Given the description of an element on the screen output the (x, y) to click on. 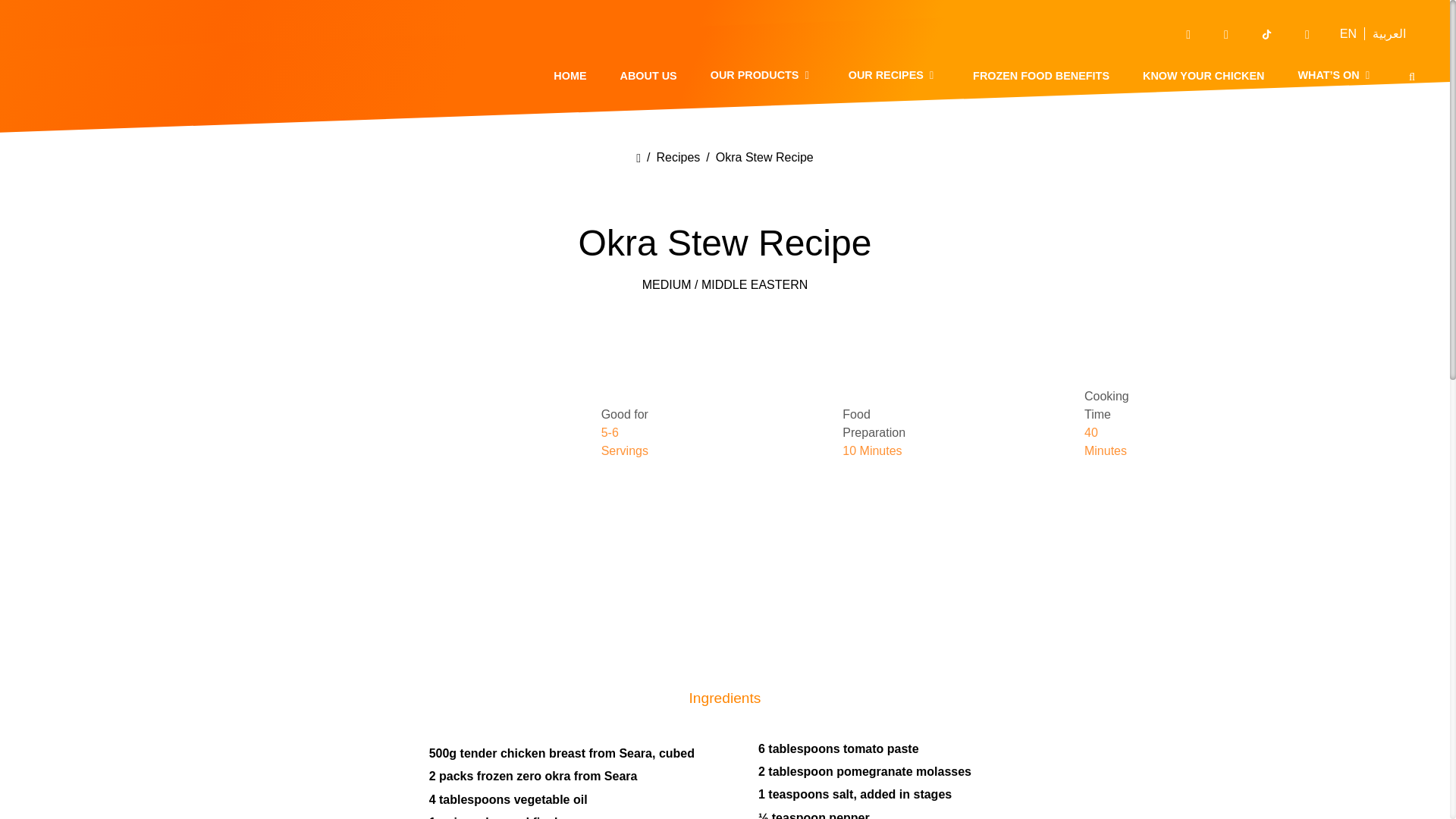
ABOUT US (648, 75)
HOME (569, 75)
FROZEN FOOD BENEFITS (1040, 75)
EN (1348, 33)
KNOW YOUR CHICKEN (1202, 75)
OUR RECIPES (893, 74)
OUR PRODUCTS (762, 74)
